Given the description of an element on the screen output the (x, y) to click on. 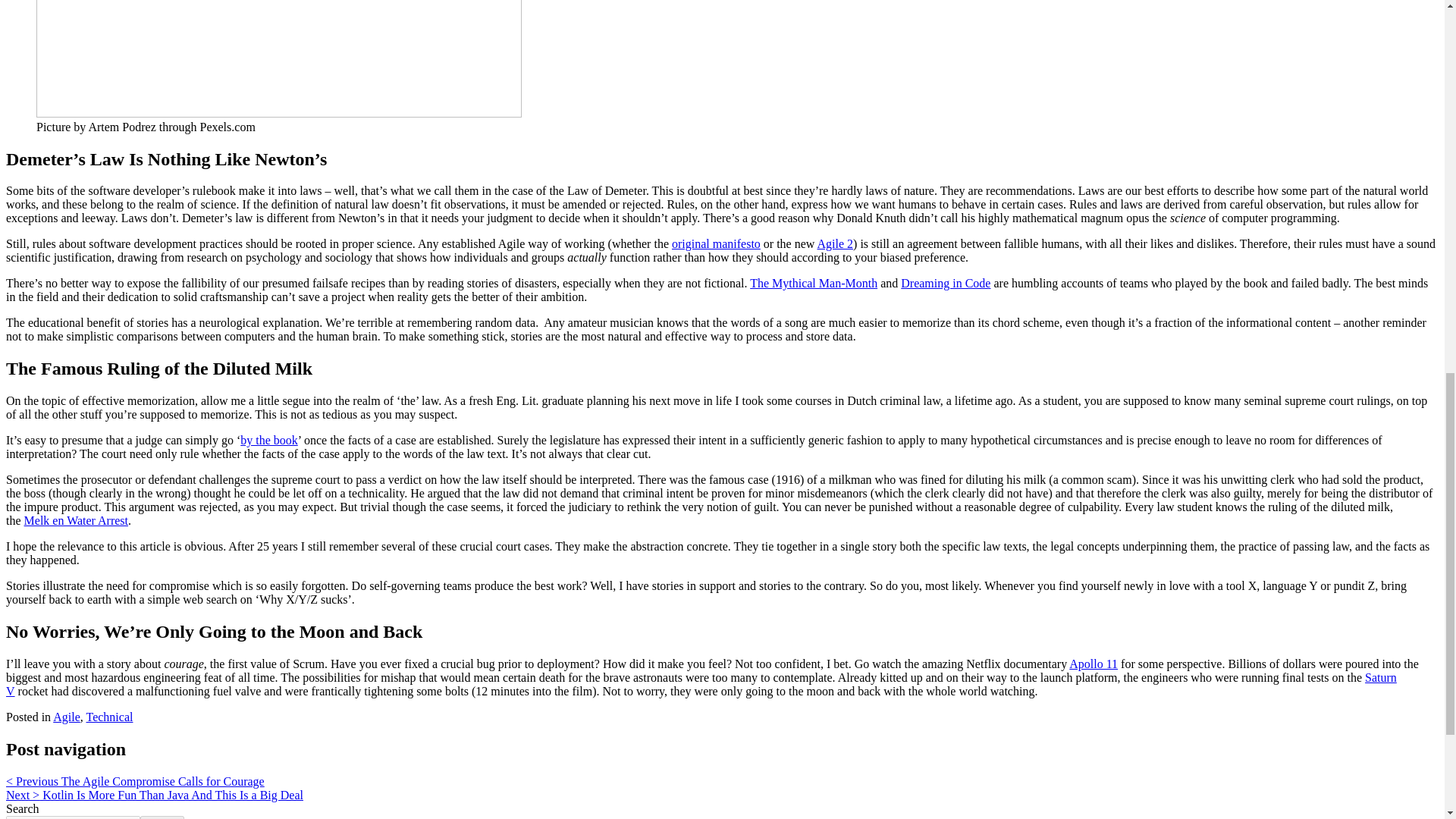
by the book (269, 440)
Dreaming in Code (945, 282)
Search (161, 817)
Saturn V (700, 683)
Melk en Water Arrest (76, 520)
Agile (66, 716)
original manifesto (715, 243)
Technical (109, 716)
The Mythical Man-Month (813, 282)
Apollo 11 (1093, 663)
